Given the description of an element on the screen output the (x, y) to click on. 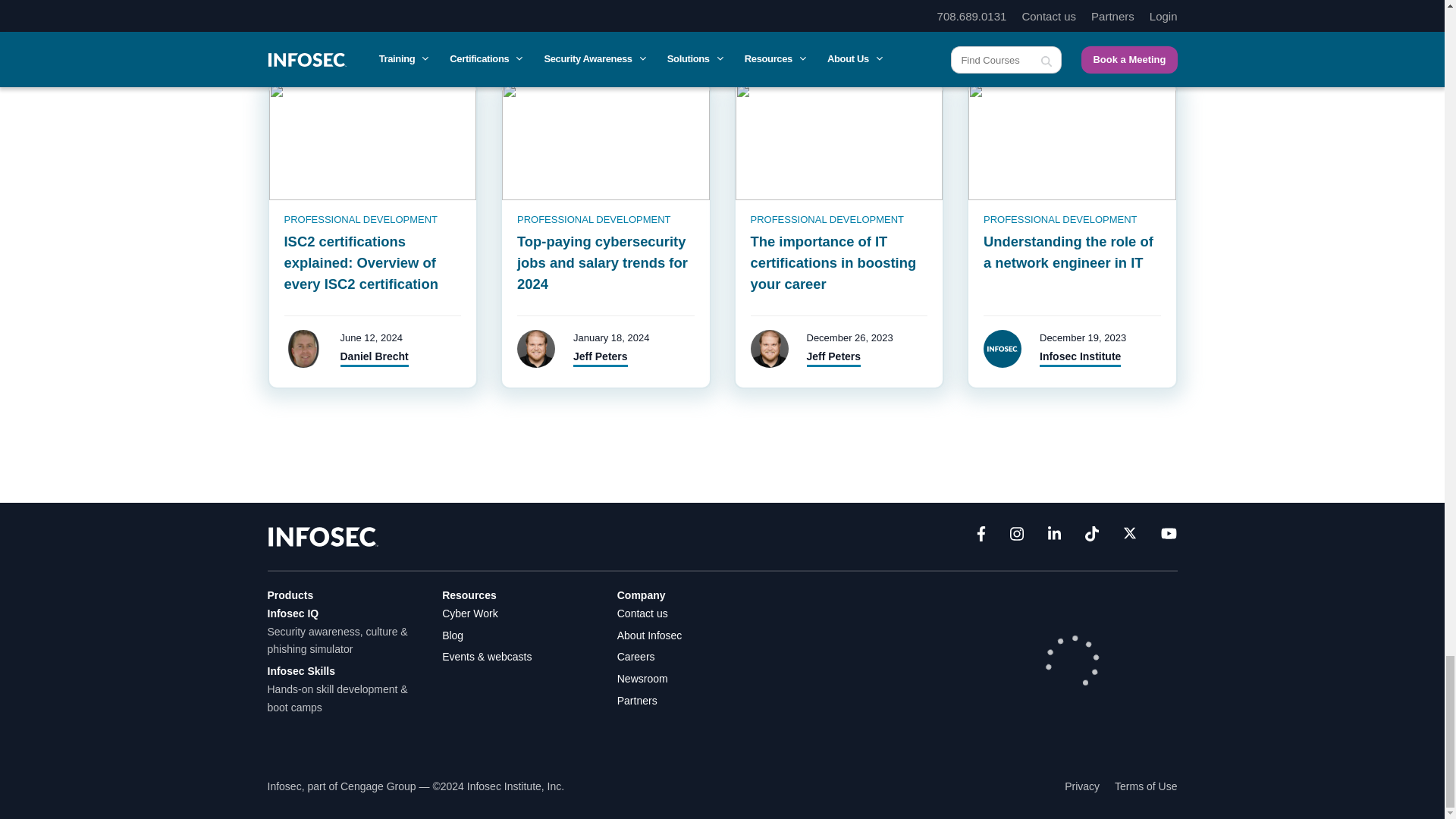
Instagram (1016, 536)
Facebook (981, 536)
Infosec (322, 535)
LinkedIn (1054, 536)
